Given the description of an element on the screen output the (x, y) to click on. 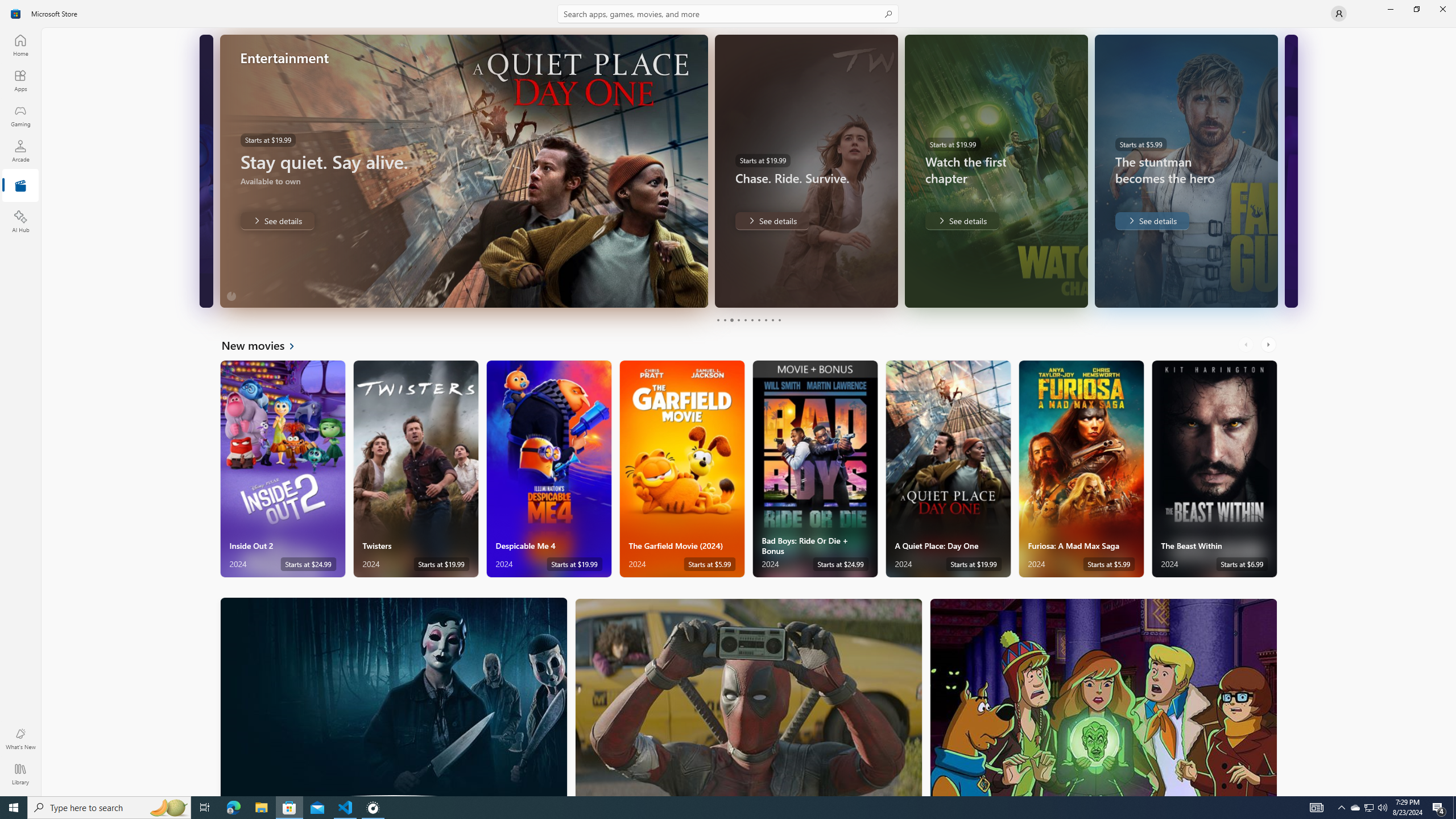
What's New (20, 738)
Page 7 (758, 319)
Page 5 (744, 319)
Horror (393, 696)
Gaming (20, 115)
User profile (1338, 13)
AutomationID: LeftScrollButton (1246, 344)
AutomationID: NavigationControl (728, 398)
Class: Image (15, 13)
The Beast Within. Starts at $6.99   (1213, 469)
AutomationID: RightScrollButton (1269, 344)
Restore Microsoft Store (1416, 9)
Family (1102, 697)
